Given the description of an element on the screen output the (x, y) to click on. 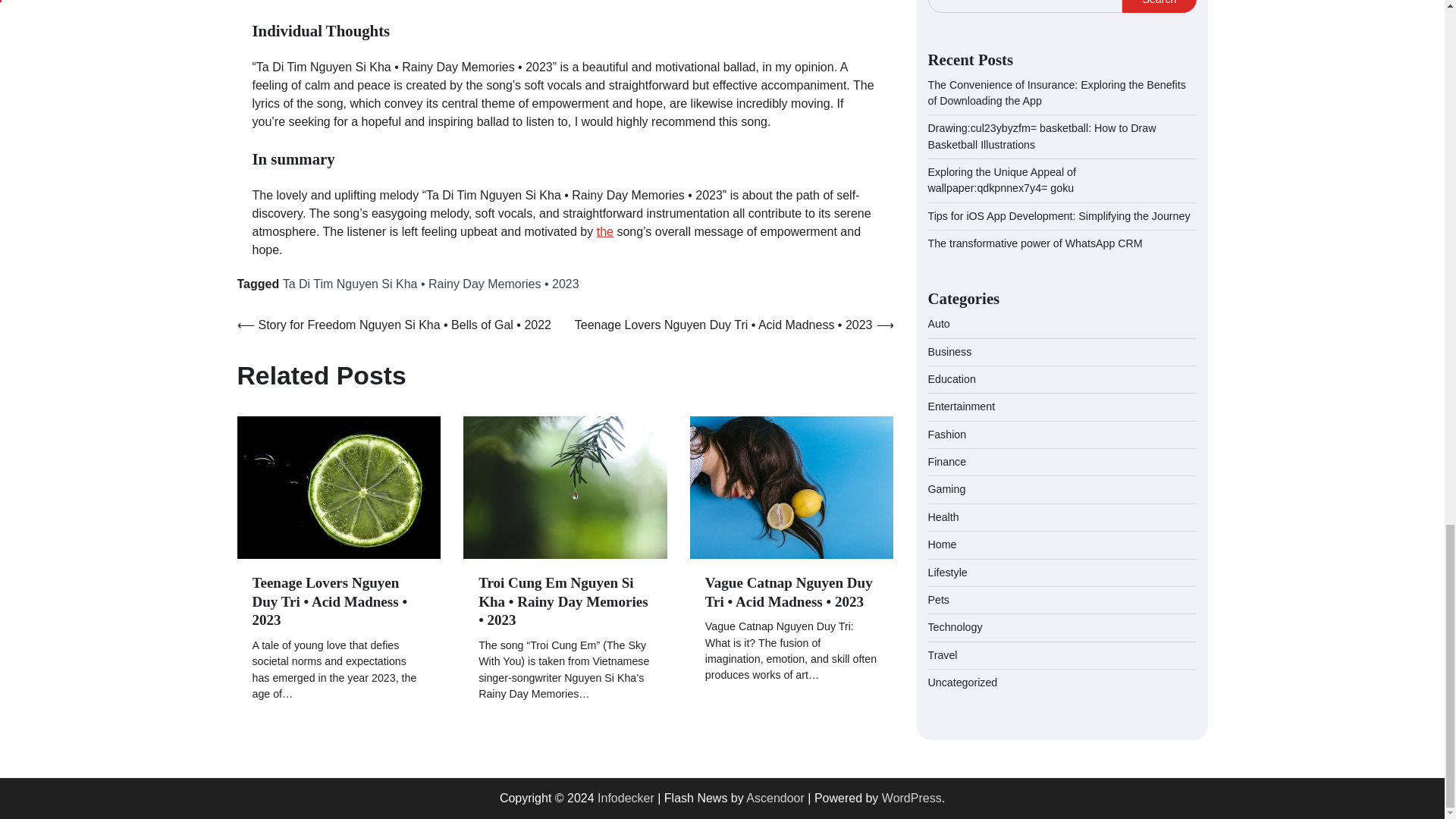
the (604, 231)
